Given the description of an element on the screen output the (x, y) to click on. 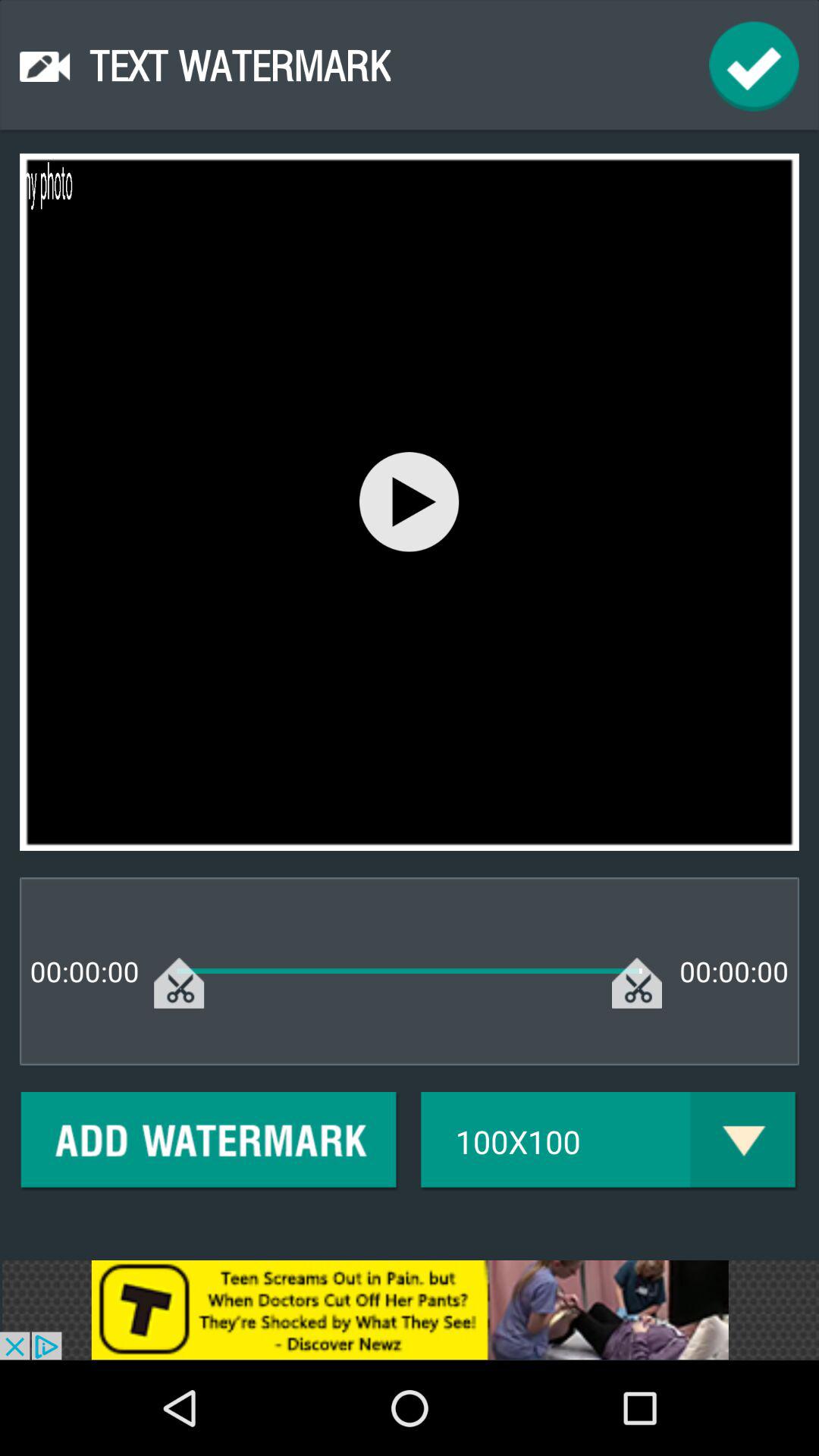
open advertisement (409, 1309)
